Given the description of an element on the screen output the (x, y) to click on. 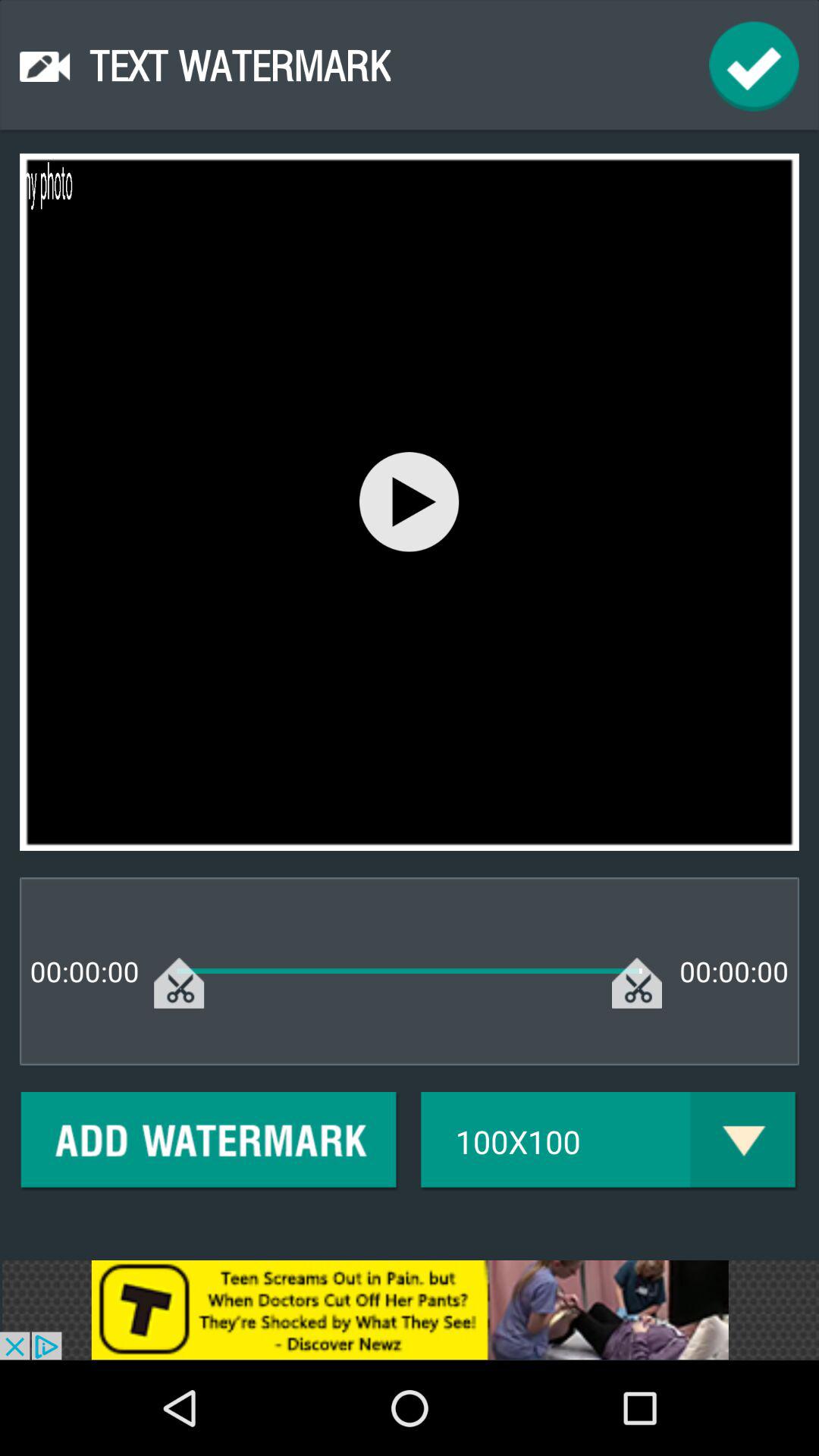
open advertisement (409, 1309)
